Given the description of an element on the screen output the (x, y) to click on. 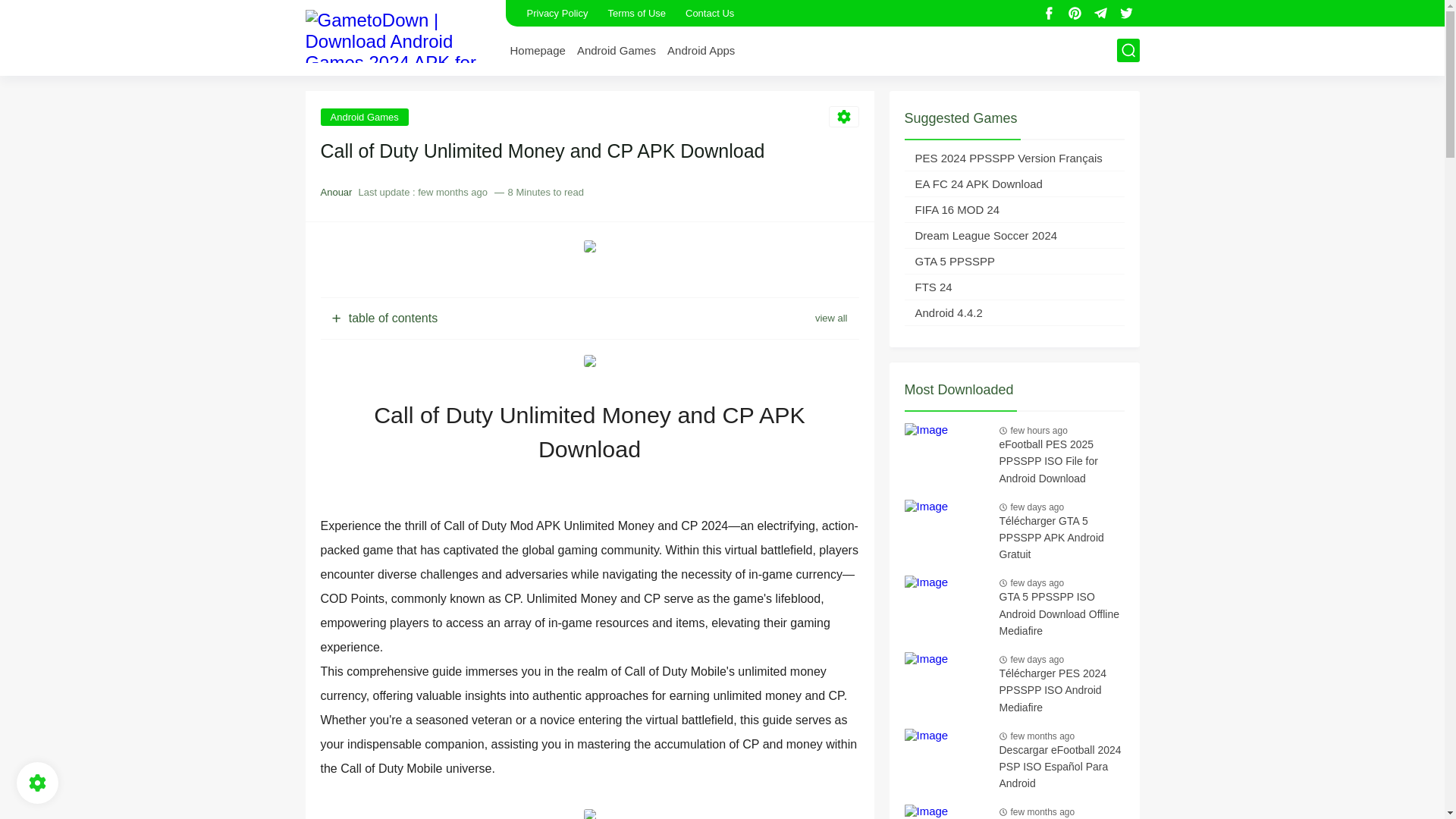
Android Apps (700, 50)
Android Games (363, 116)
Android Games (616, 50)
Terms of Use (636, 12)
Privacy Policy (556, 12)
Homepage (536, 50)
Android Games (363, 116)
Homepage (536, 50)
Android Apps (700, 50)
Android Games (616, 50)
Contact Us (709, 12)
